Given the description of an element on the screen output the (x, y) to click on. 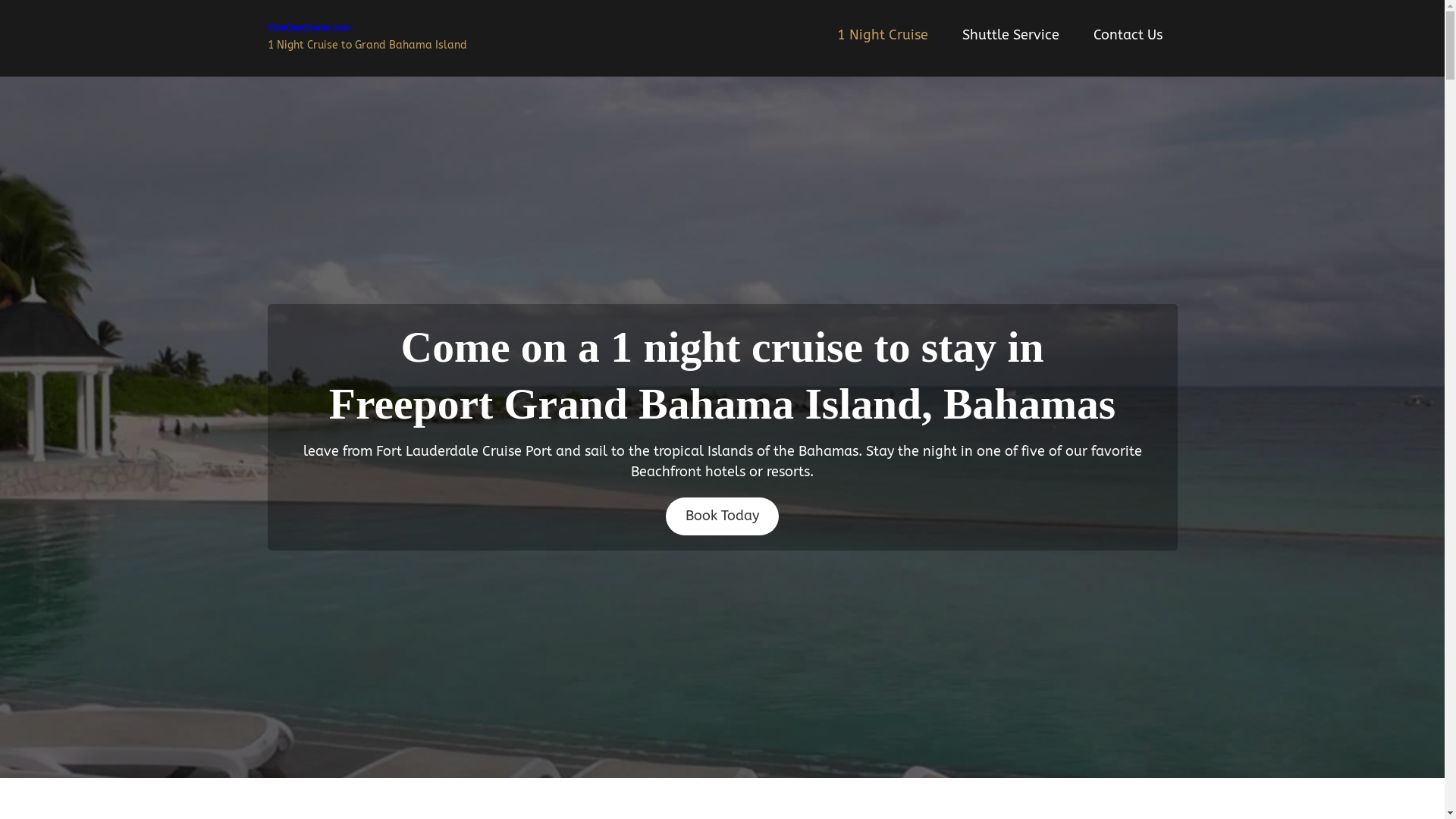
1 Night Cruise Element type: text (882, 34)
Book Today Element type: text (721, 516)
Shuttle Service Element type: text (1009, 34)
Contact Us Element type: text (1127, 34)
